Given the description of an element on the screen output the (x, y) to click on. 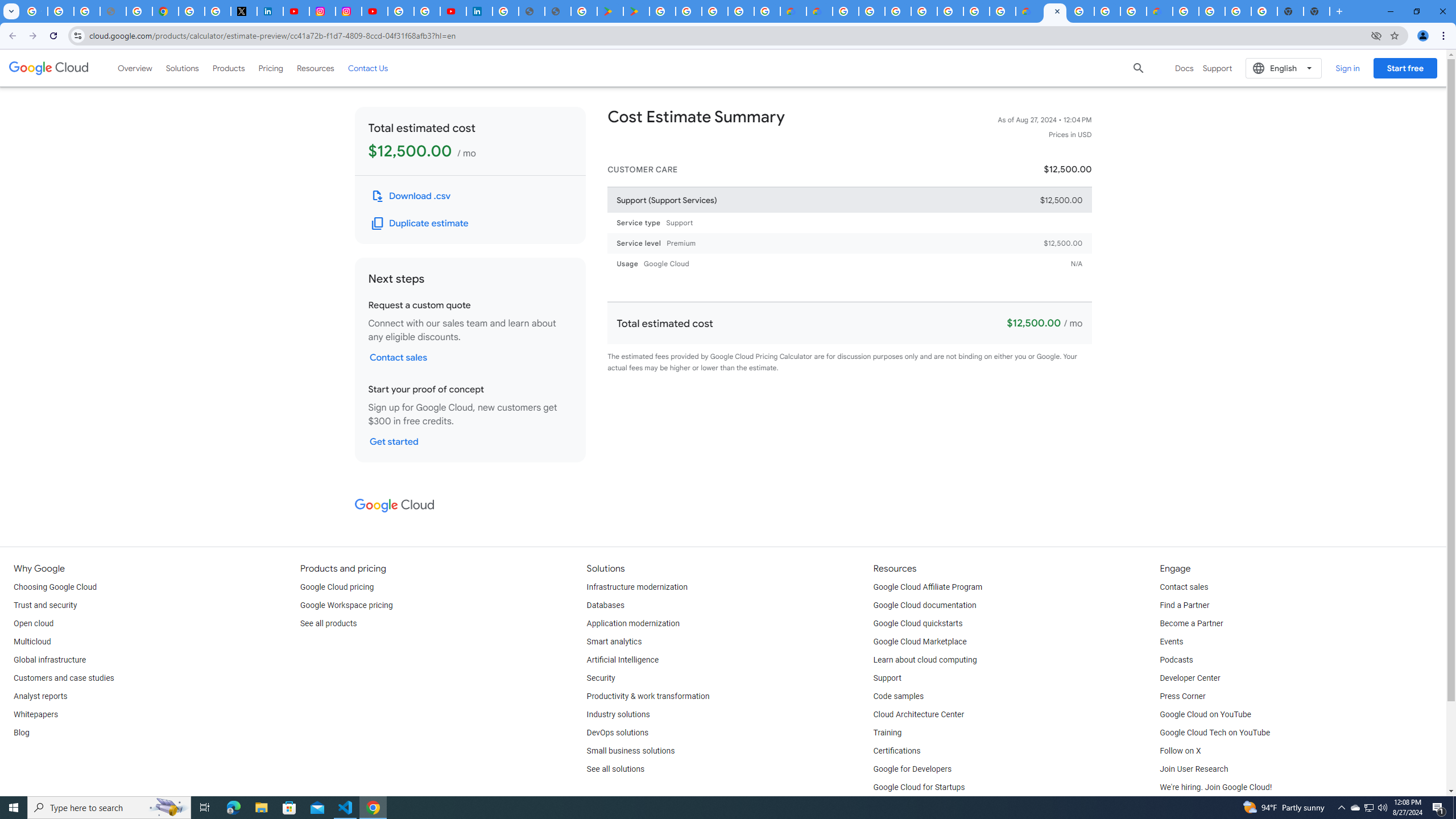
Customer Care | Google Cloud (792, 11)
Google Cloud Platform (1185, 11)
Google Cloud on YouTube (1204, 714)
Android Apps on Google Play (610, 11)
Multicloud (31, 642)
Choosing Google Cloud (55, 587)
Find a Partner (1183, 605)
Developer Center (1189, 678)
